Given the description of an element on the screen output the (x, y) to click on. 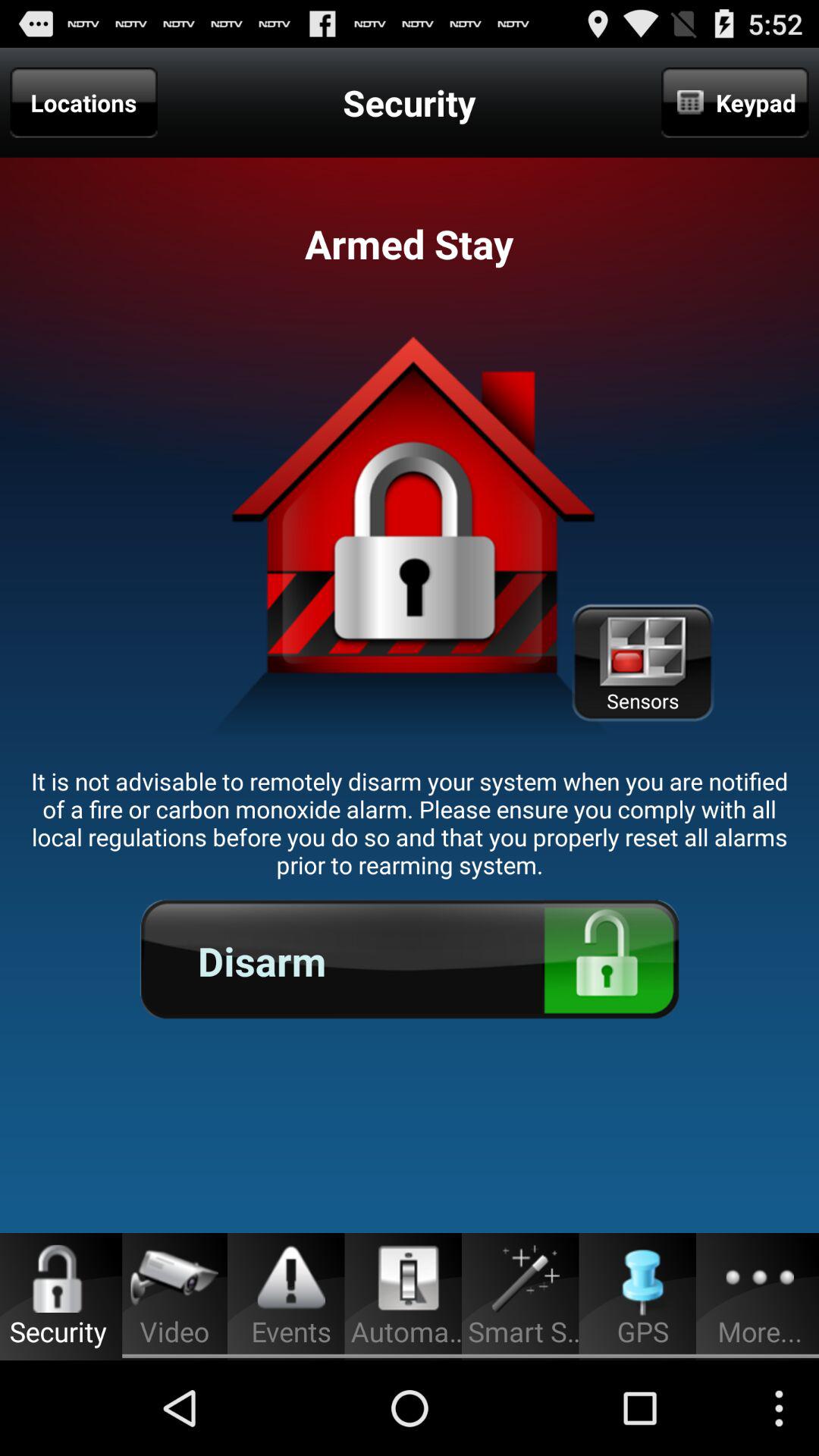
click the keypad at the top right corner (734, 102)
